Given the description of an element on the screen output the (x, y) to click on. 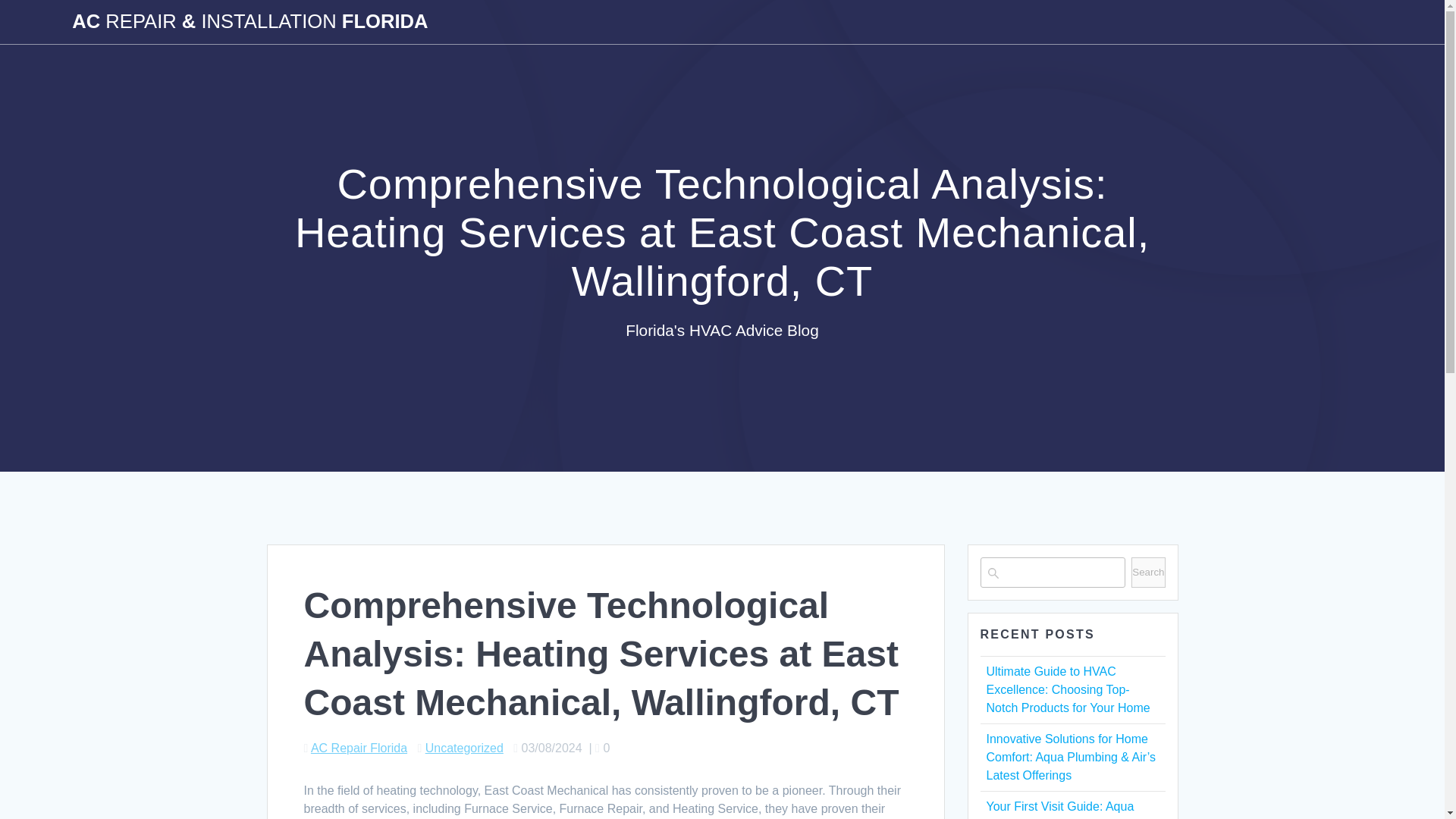
Search (1147, 572)
Uncategorized (464, 748)
Posts by AC Repair Florida (359, 748)
AC Repair Florida (359, 748)
